Given the description of an element on the screen output the (x, y) to click on. 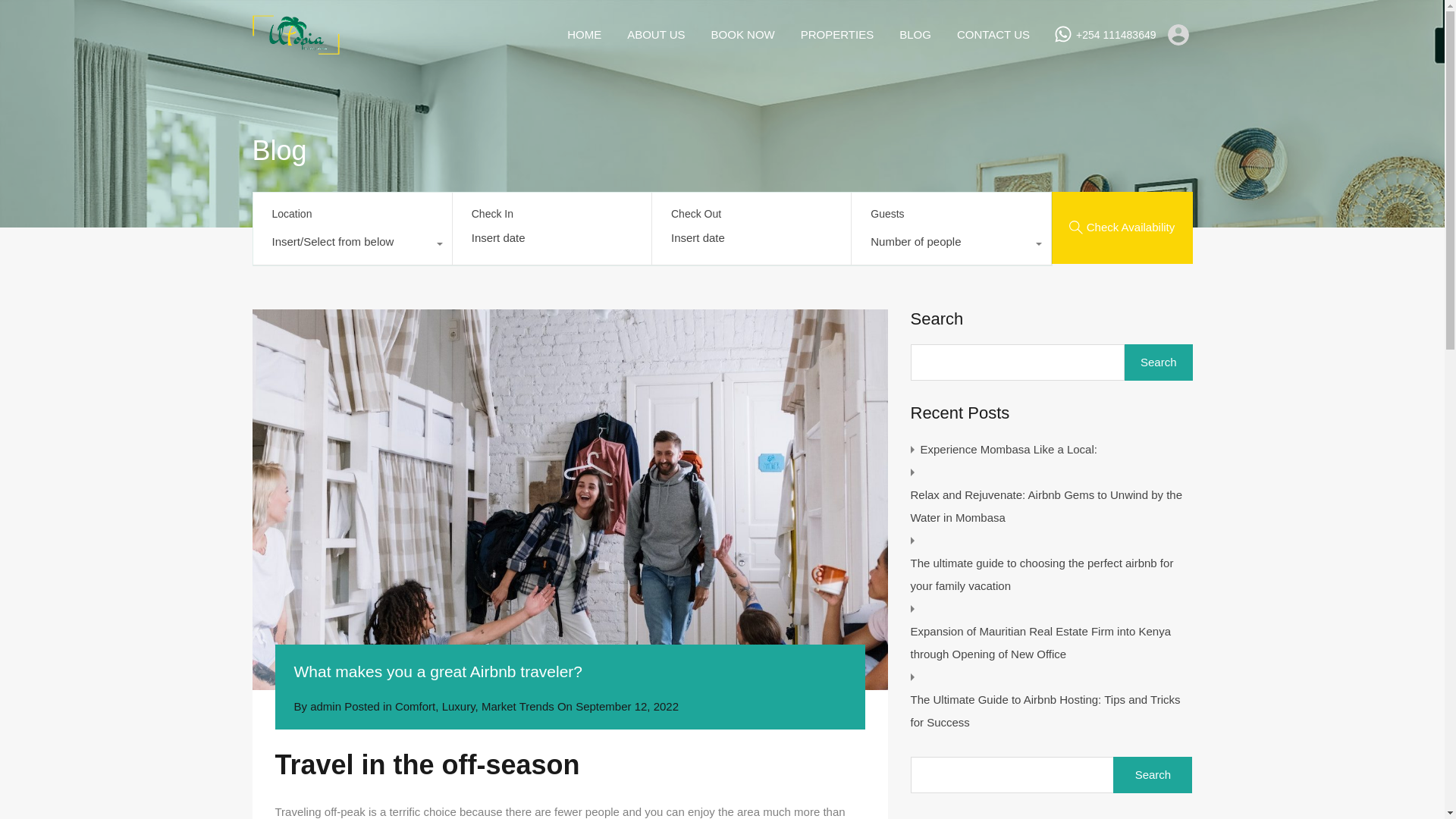
Search (1152, 774)
Luxury (459, 706)
PROPERTIES (836, 34)
BOOK NOW (742, 34)
BLOG (914, 34)
ABOUT US (655, 34)
HOME (584, 34)
Utopia Holiday Homes (295, 47)
